Given the description of an element on the screen output the (x, y) to click on. 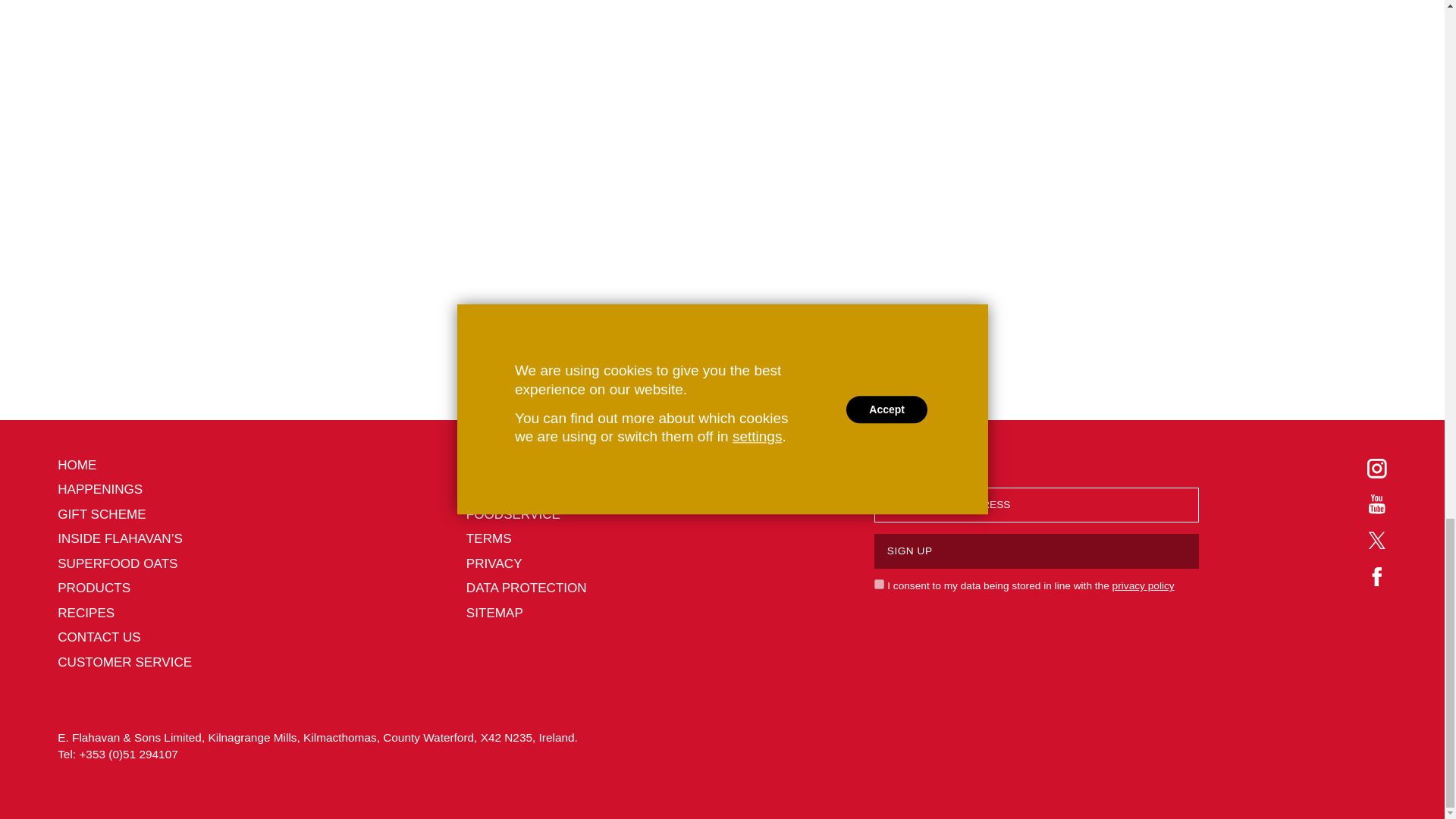
on (879, 583)
Sign Up (1036, 550)
Instagram (1376, 468)
YouTube (1376, 503)
Facebook (1376, 576)
Twitter (1376, 540)
